Given the description of an element on the screen output the (x, y) to click on. 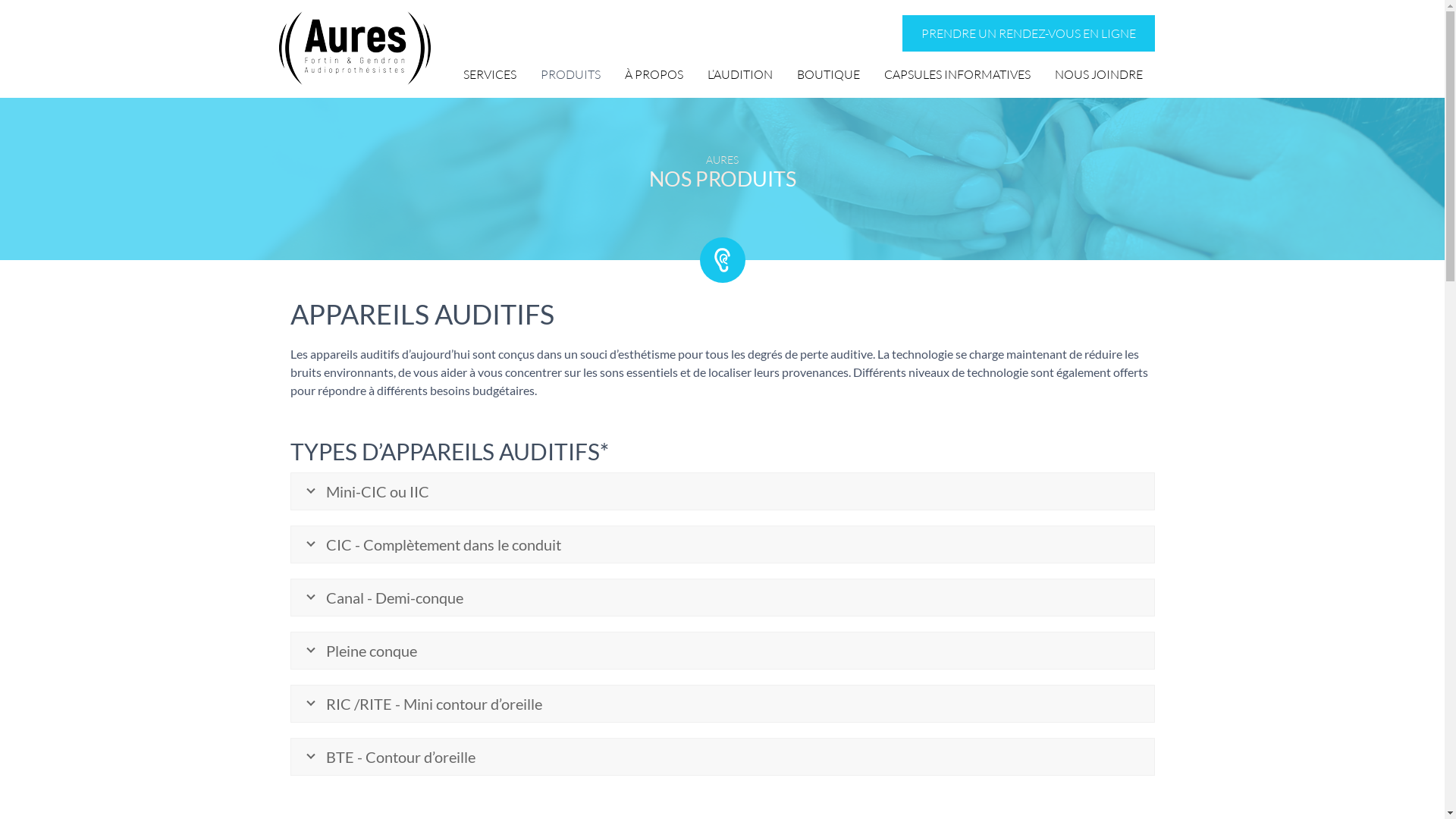
Pleine conque Element type: text (722, 650)
CAPSULES INFORMATIVES Element type: text (957, 74)
BOUTIQUE Element type: text (827, 74)
Mini-CIC ou IIC Element type: text (722, 491)
PRENDRE UN RENDEZ-VOUS EN LIGNE Element type: text (1028, 33)
NOUS JOINDRE Element type: text (1097, 74)
SERVICES Element type: text (488, 74)
PRODUITS Element type: text (569, 74)
Canal - Demi-conque Element type: text (722, 597)
